Given the description of an element on the screen output the (x, y) to click on. 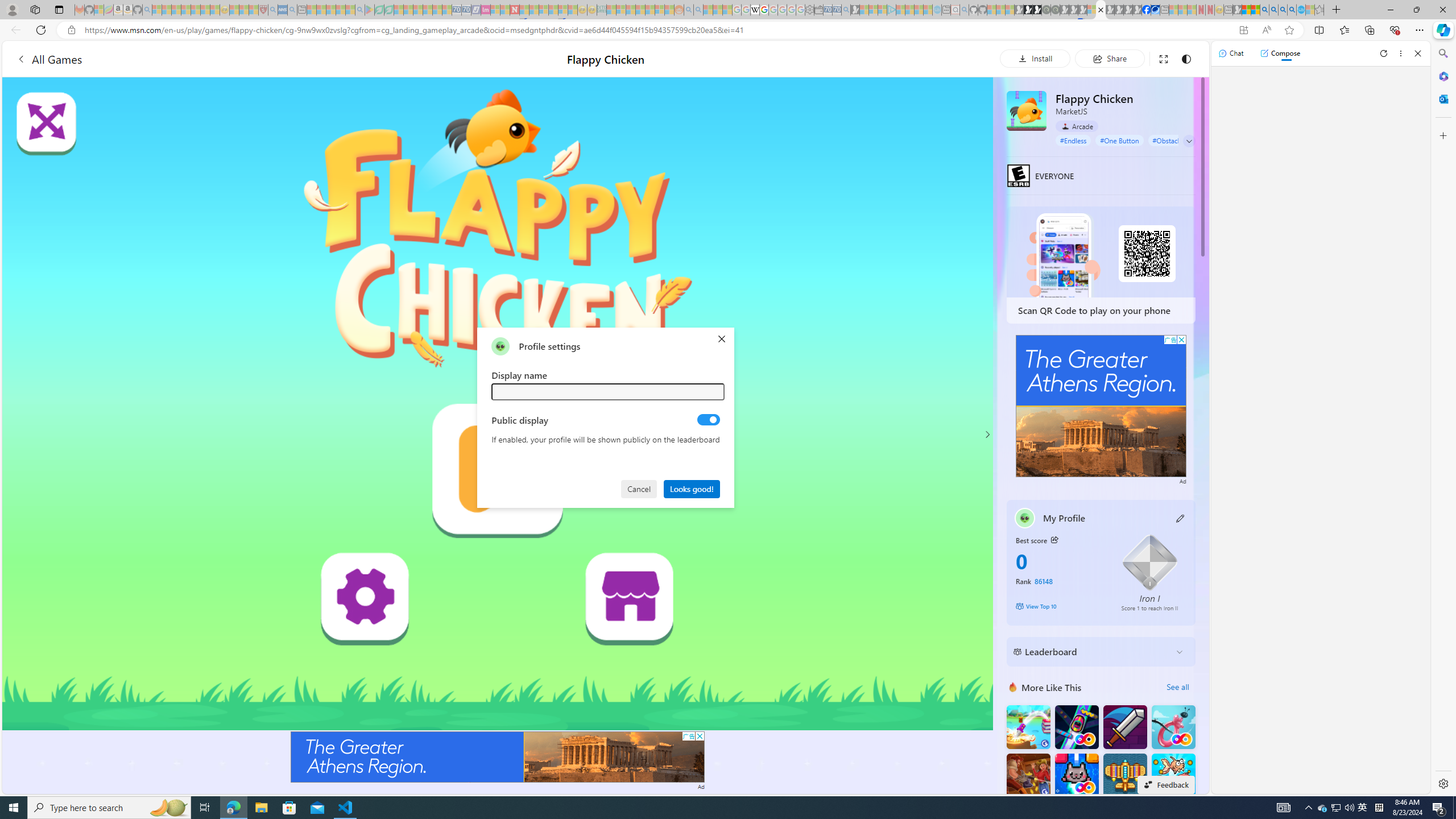
All Games (49, 58)
Leaderboard (1091, 651)
Target page - Wikipedia (754, 9)
